Given the description of an element on the screen output the (x, y) to click on. 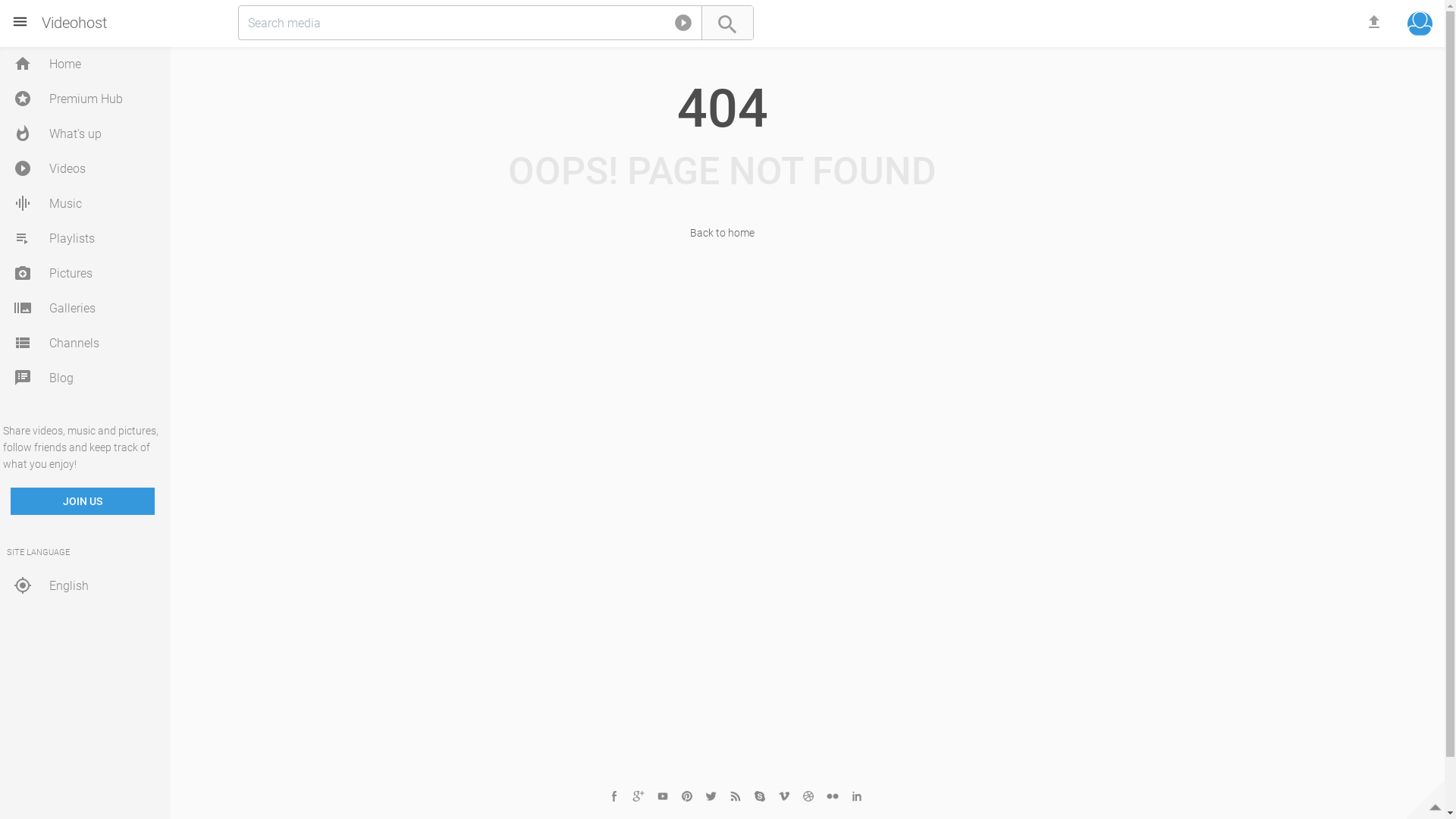
Dribbble Element type: hover (808, 796)
gps_fixed
English Element type: text (88, 585)
Back to home Element type: text (722, 232)
Vimeo Element type: hover (783, 796)
Youtube Element type: hover (662, 796)
JOIN US Element type: text (82, 500)
Login Element type: hover (1419, 25)
Guest Element type: hover (1419, 23)
Facebook Element type: hover (614, 796)
Google Plus Element type: hover (638, 796)
Pinterest Element type: hover (686, 796)
Twitter Element type: hover (711, 796)
Linked in Element type: hover (856, 796)
Flickr Element type: hover (832, 796)
Skype Element type: hover (759, 796)
Videohost Element type: text (73, 23)
Feedburner Element type: hover (735, 796)
